Given the description of an element on the screen output the (x, y) to click on. 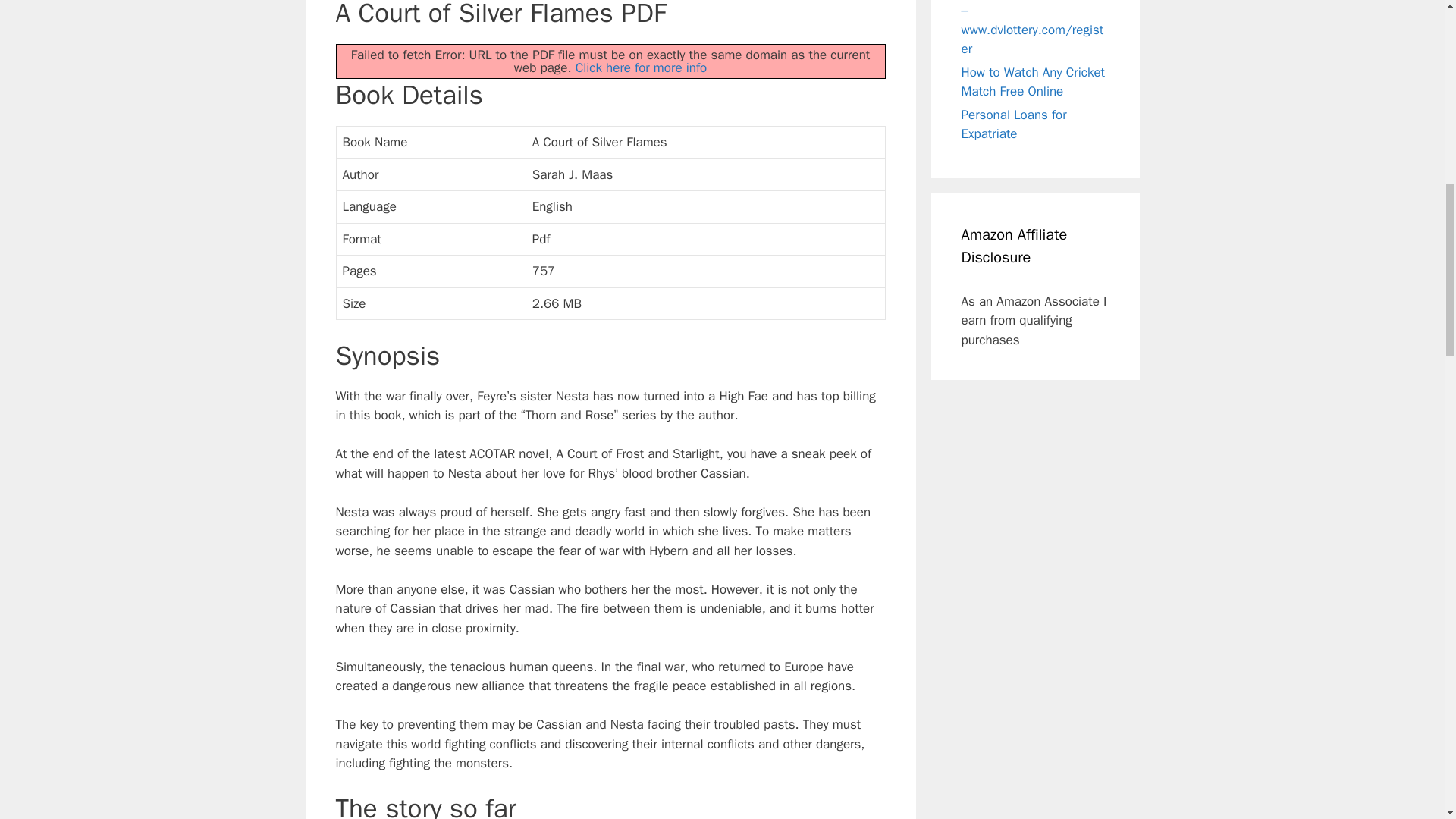
Personal Loans for Expatriate (1013, 123)
Click here for more info (641, 67)
How to Watch Any Cricket Match Free Online (1032, 81)
